Given the description of an element on the screen output the (x, y) to click on. 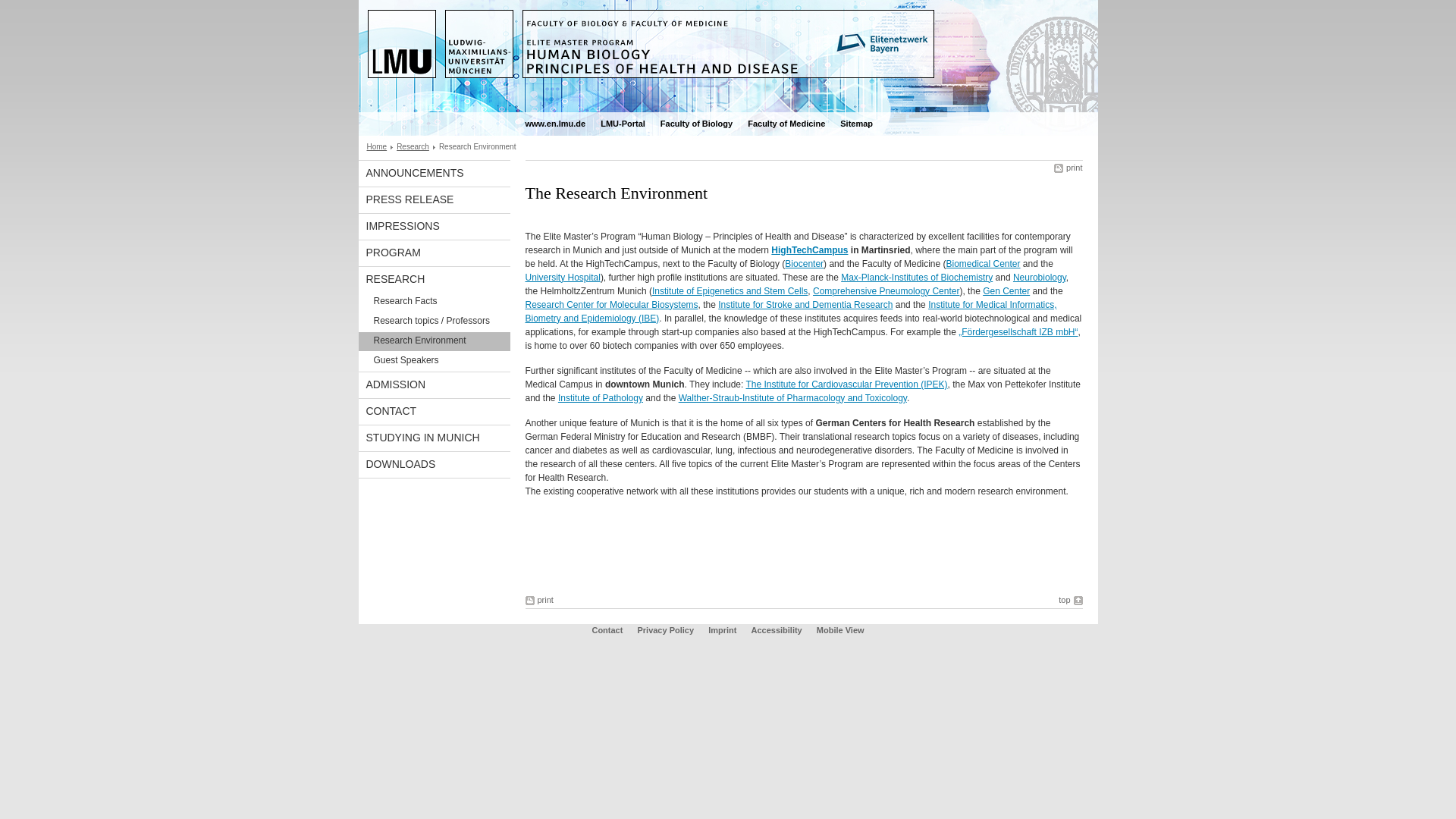
Contact (607, 629)
Research Facts (433, 302)
Max-Planck-Institutes of Biochemistry (916, 276)
PRESS RELEASE (433, 200)
Elite Master Program Human Biology (727, 56)
University Hospital (561, 276)
Faculty of Medicine (786, 123)
top (1069, 600)
Walther-Straub-Institute of Pharmacology and Toxicology (792, 398)
www.en.lmu.de - Home (554, 123)
